Given the description of an element on the screen output the (x, y) to click on. 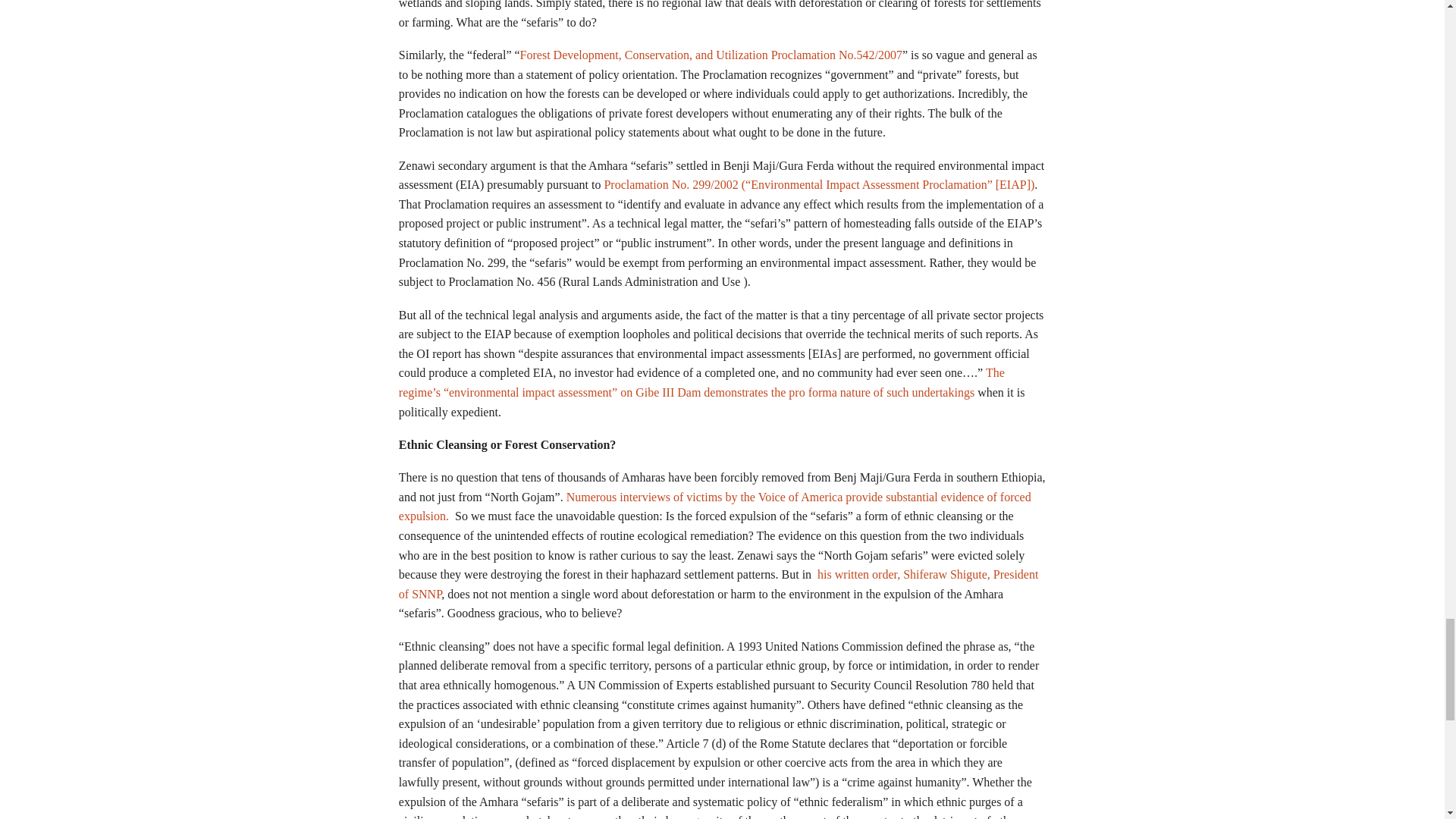
his written order, Shiferaw Shigute, President of SNNP (718, 584)
